Given the description of an element on the screen output the (x, y) to click on. 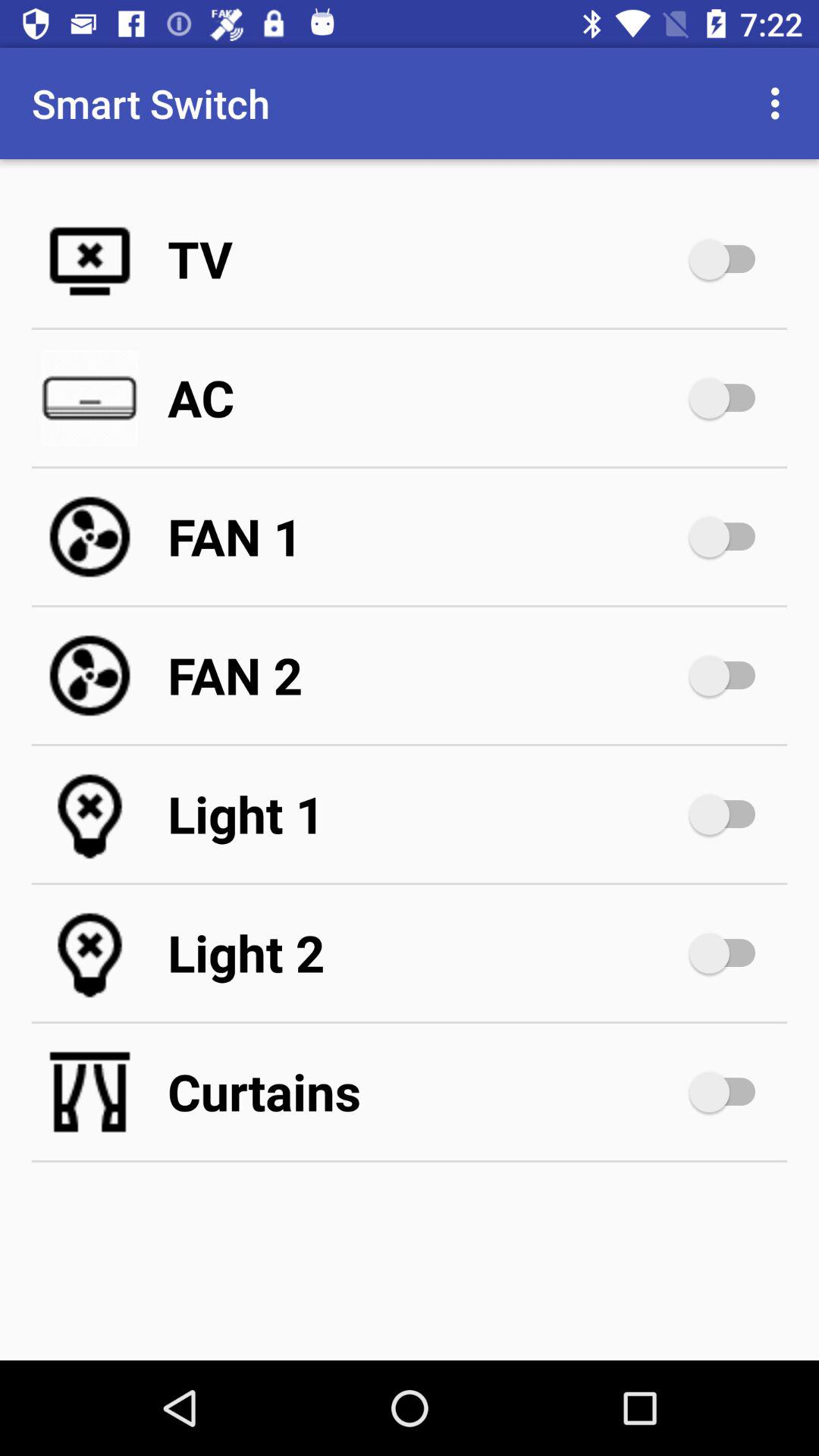
turn on the item below the ac icon (424, 536)
